Given the description of an element on the screen output the (x, y) to click on. 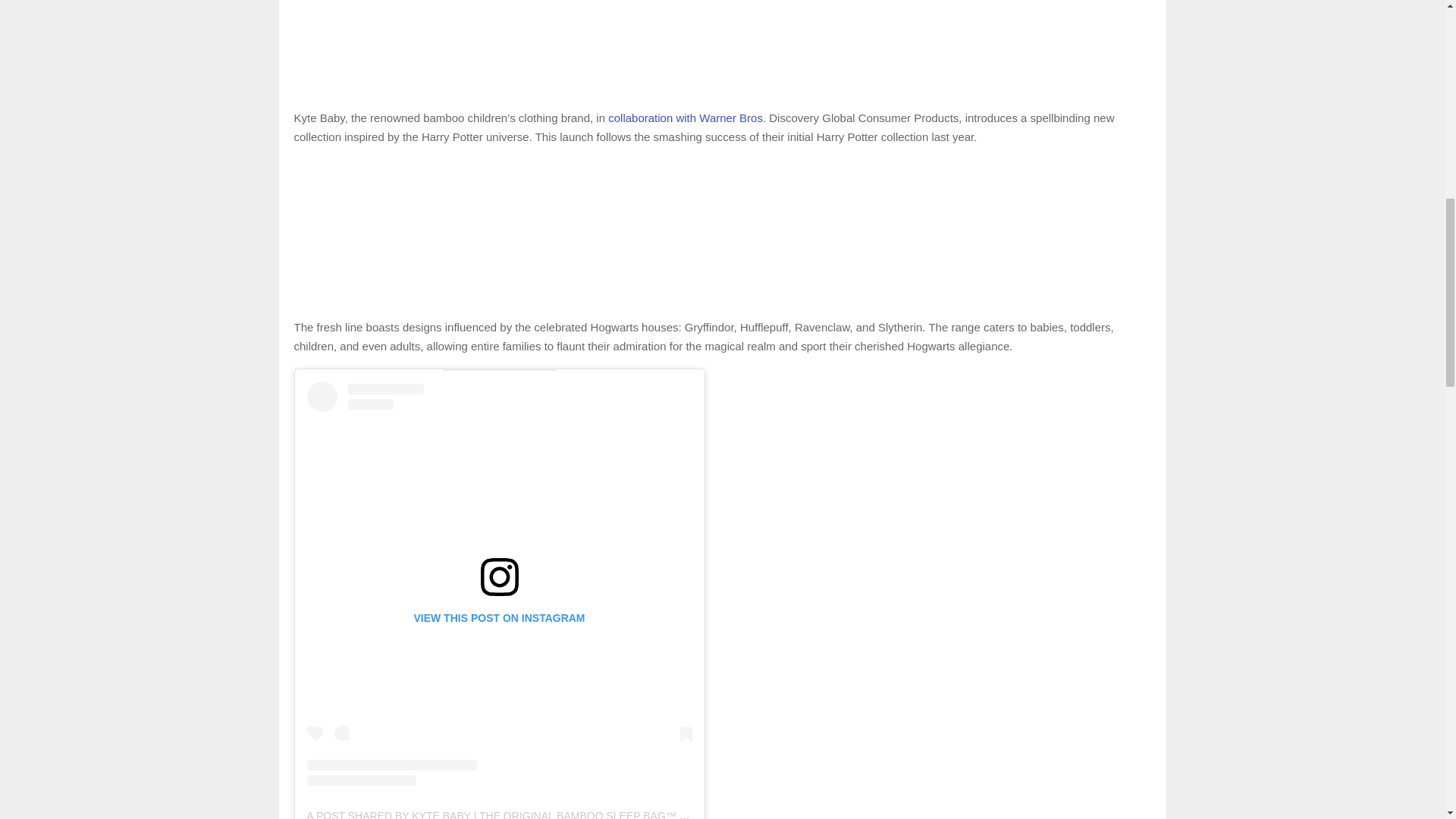
Advertisement (722, 46)
collaboration with Warner Bros (685, 117)
Advertisement (722, 235)
